Given the description of an element on the screen output the (x, y) to click on. 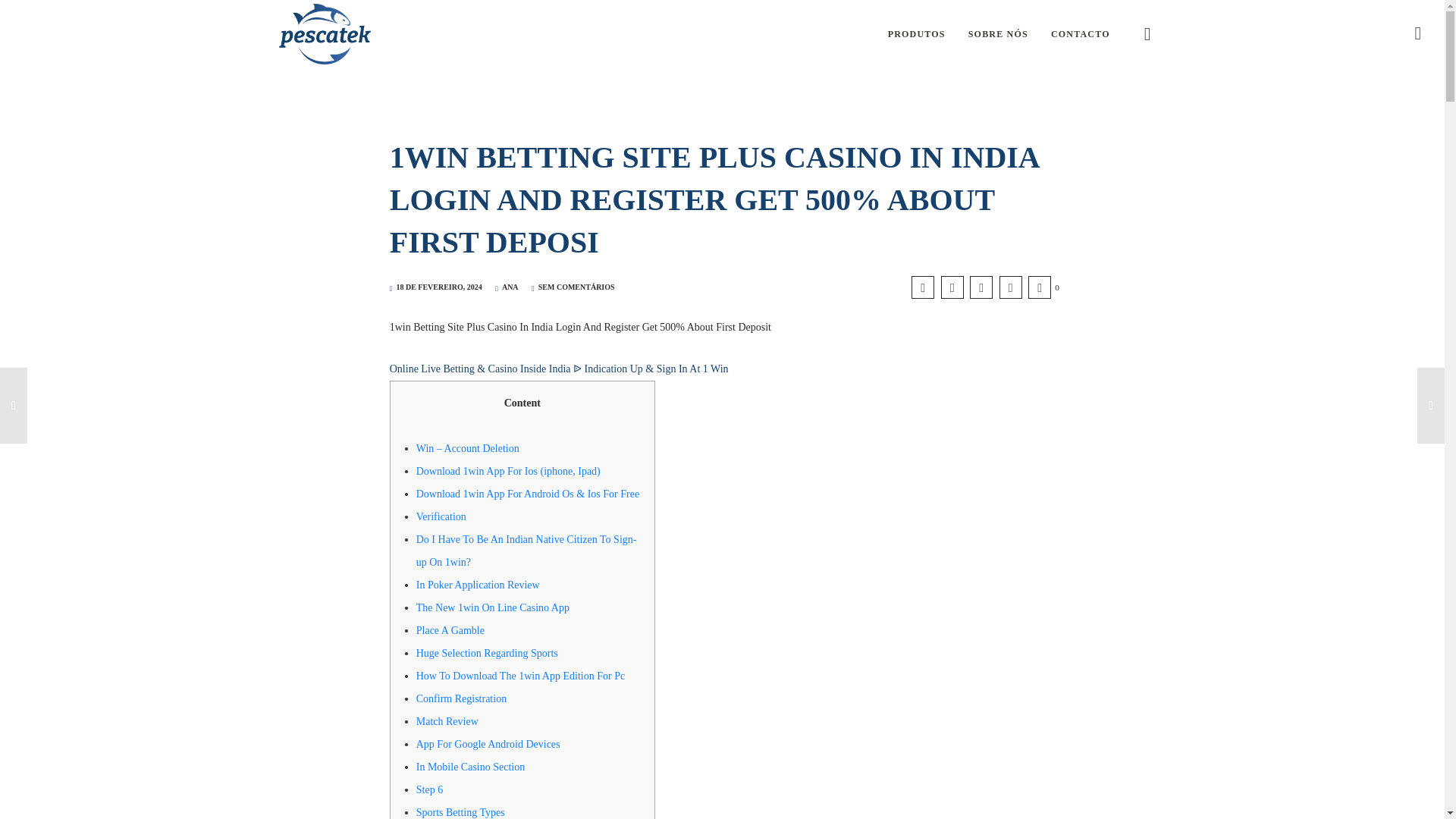
Pescatek (325, 33)
ANA (506, 286)
